Given the description of an element on the screen output the (x, y) to click on. 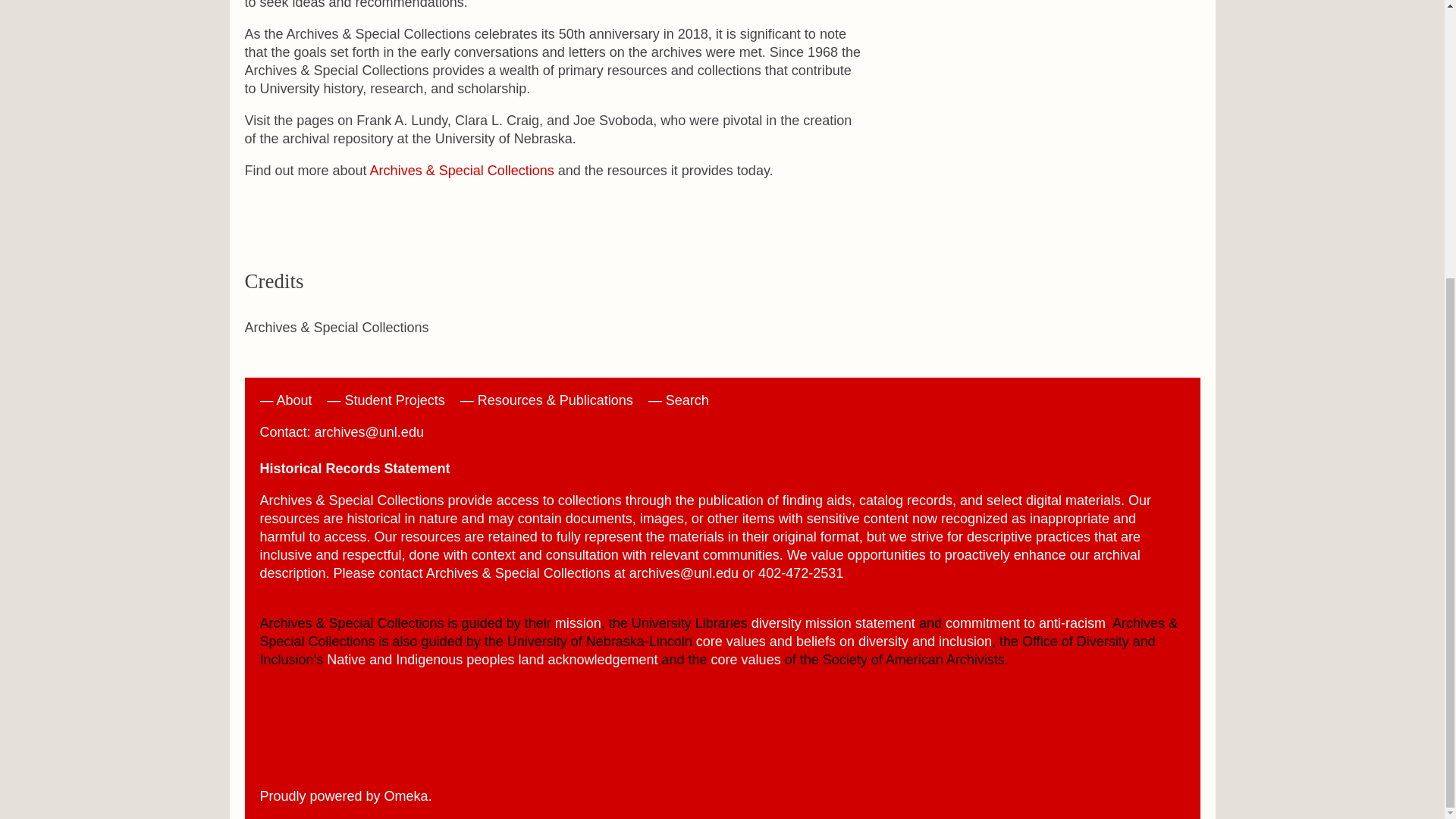
Search (687, 400)
diversity mission statement (833, 622)
Omeka (406, 795)
commitment to anti-racism (1024, 622)
core values (745, 659)
core values and beliefs on diversity and inclusion (843, 641)
About (294, 400)
mission (577, 622)
Native and Indigenous peoples land acknowledgement (492, 659)
Student Projects (395, 400)
